Given the description of an element on the screen output the (x, y) to click on. 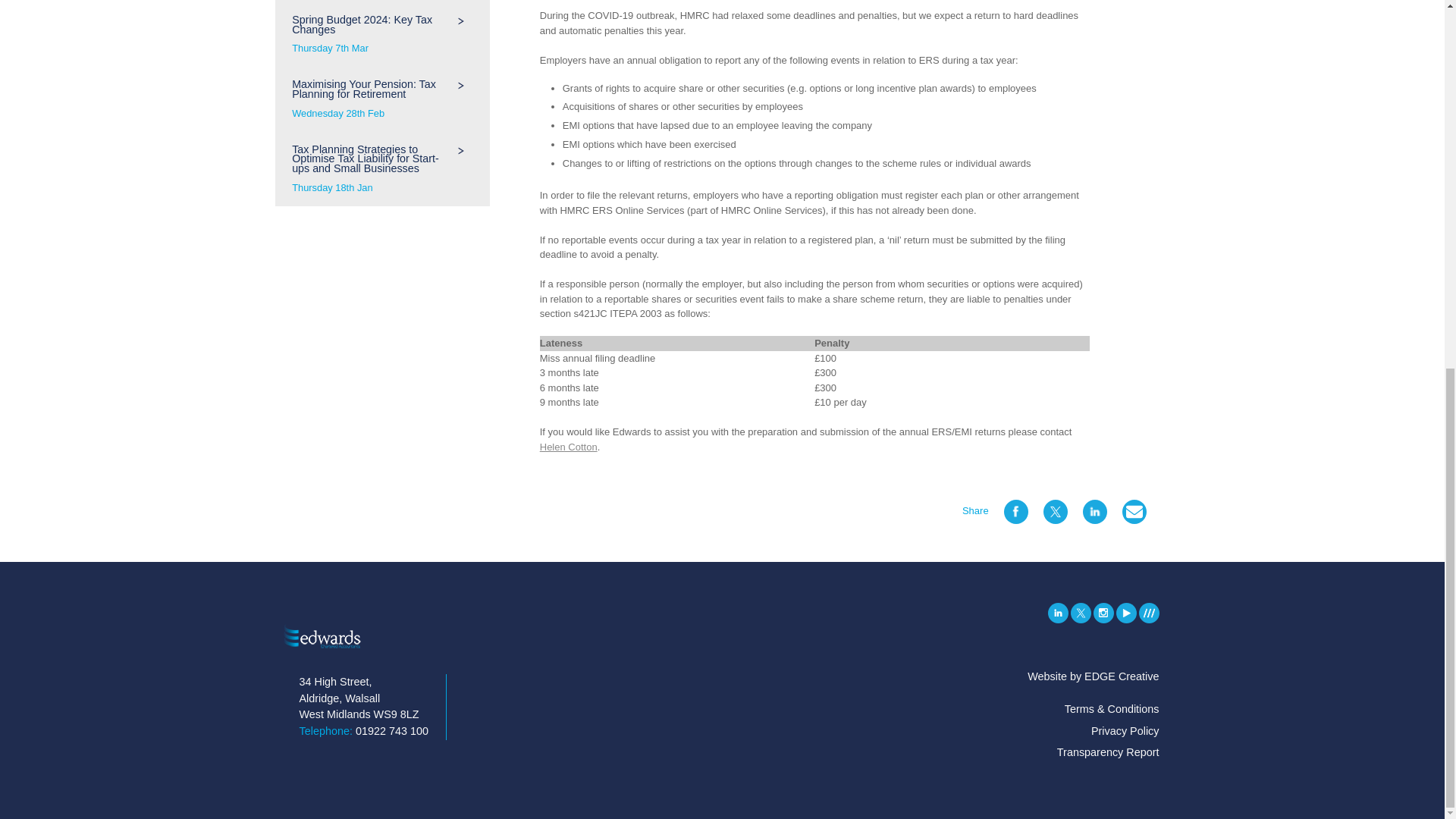
Helen Cotton (382, 34)
